Given the description of an element on the screen output the (x, y) to click on. 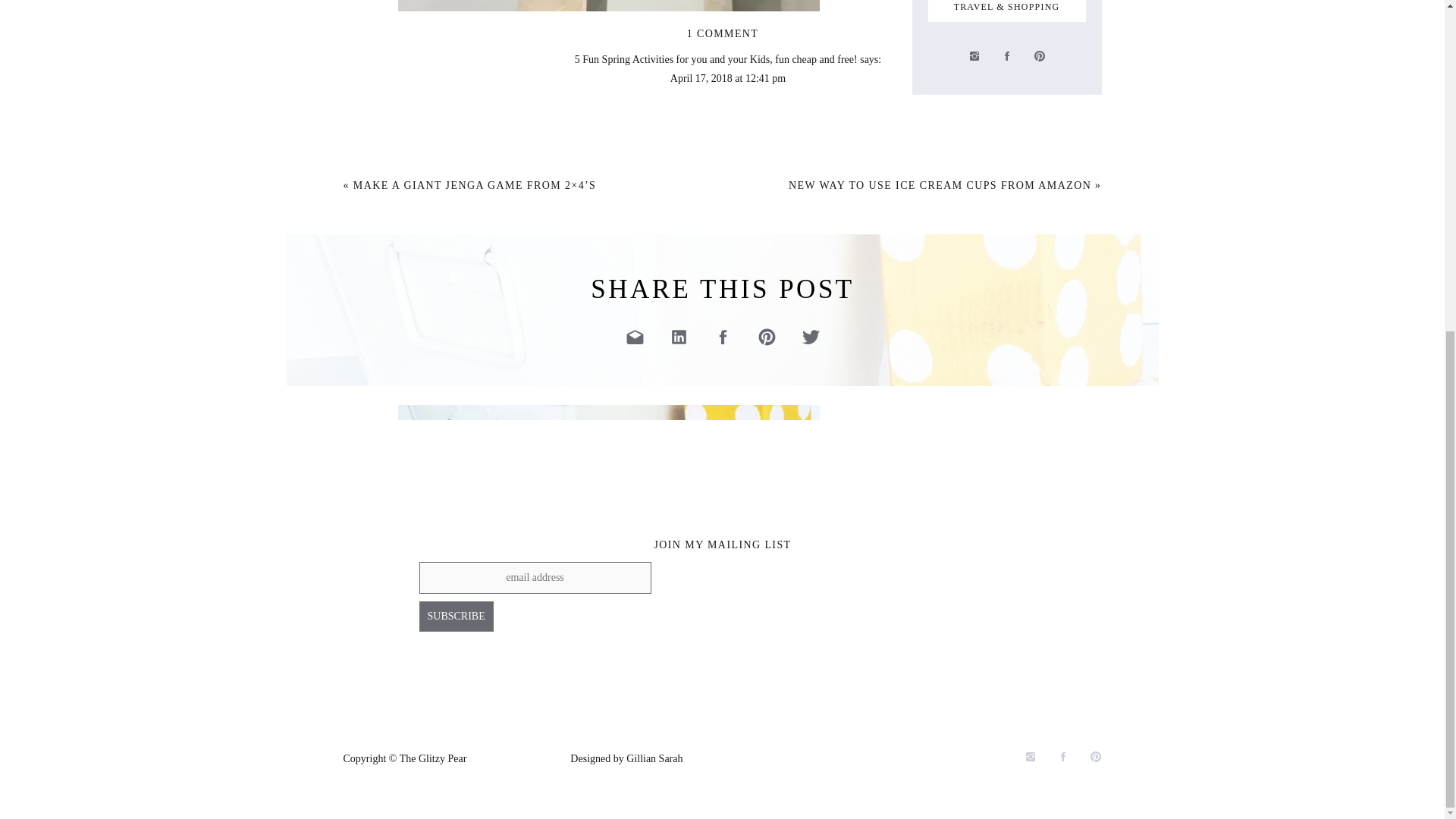
Studio 5 (415, 161)
HERE (617, 795)
NEW WAY TO USE ICE CREAM CUPS FROM AMAZON (939, 184)
HERE (449, 757)
Subscribe (456, 616)
April 17, 2018 at 12:41 pm (727, 78)
HERE (566, 795)
HERE (666, 795)
